Given the description of an element on the screen output the (x, y) to click on. 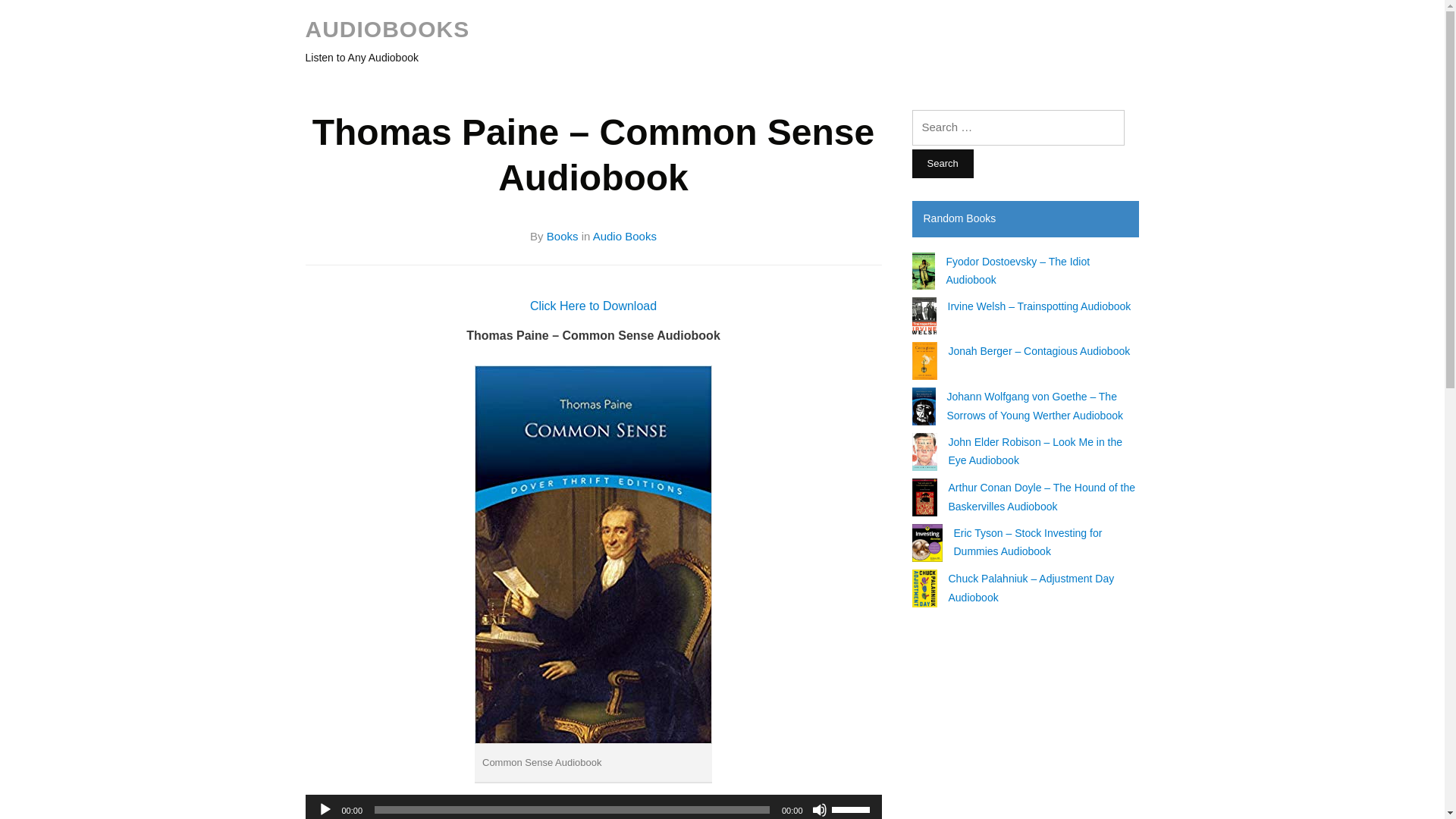
Search (941, 163)
Play (324, 809)
Posts by Books (562, 236)
Audio Books (624, 236)
Books (562, 236)
Mute (818, 809)
Search (941, 163)
Click Here to Download (592, 305)
Search (941, 163)
AUDIOBOOKS (386, 28)
